Given the description of an element on the screen output the (x, y) to click on. 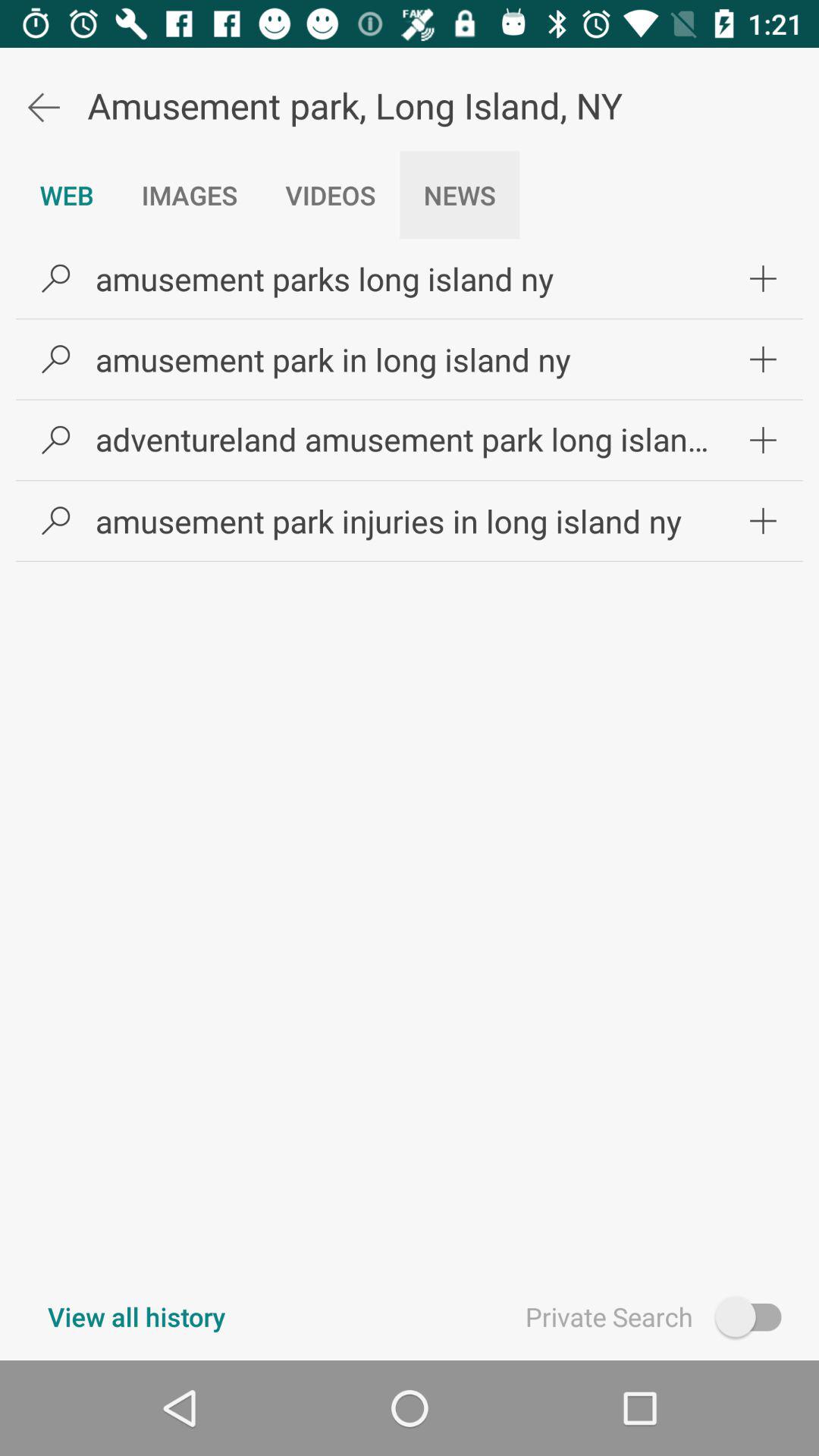
launch icon above the amusement parks long icon (459, 194)
